Given the description of an element on the screen output the (x, y) to click on. 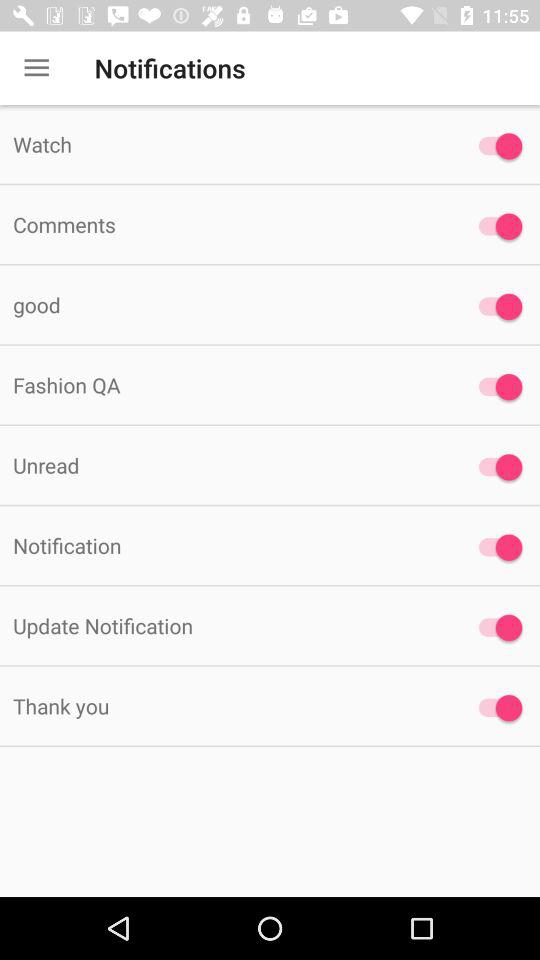
enable watch notification (495, 146)
